Given the description of an element on the screen output the (x, y) to click on. 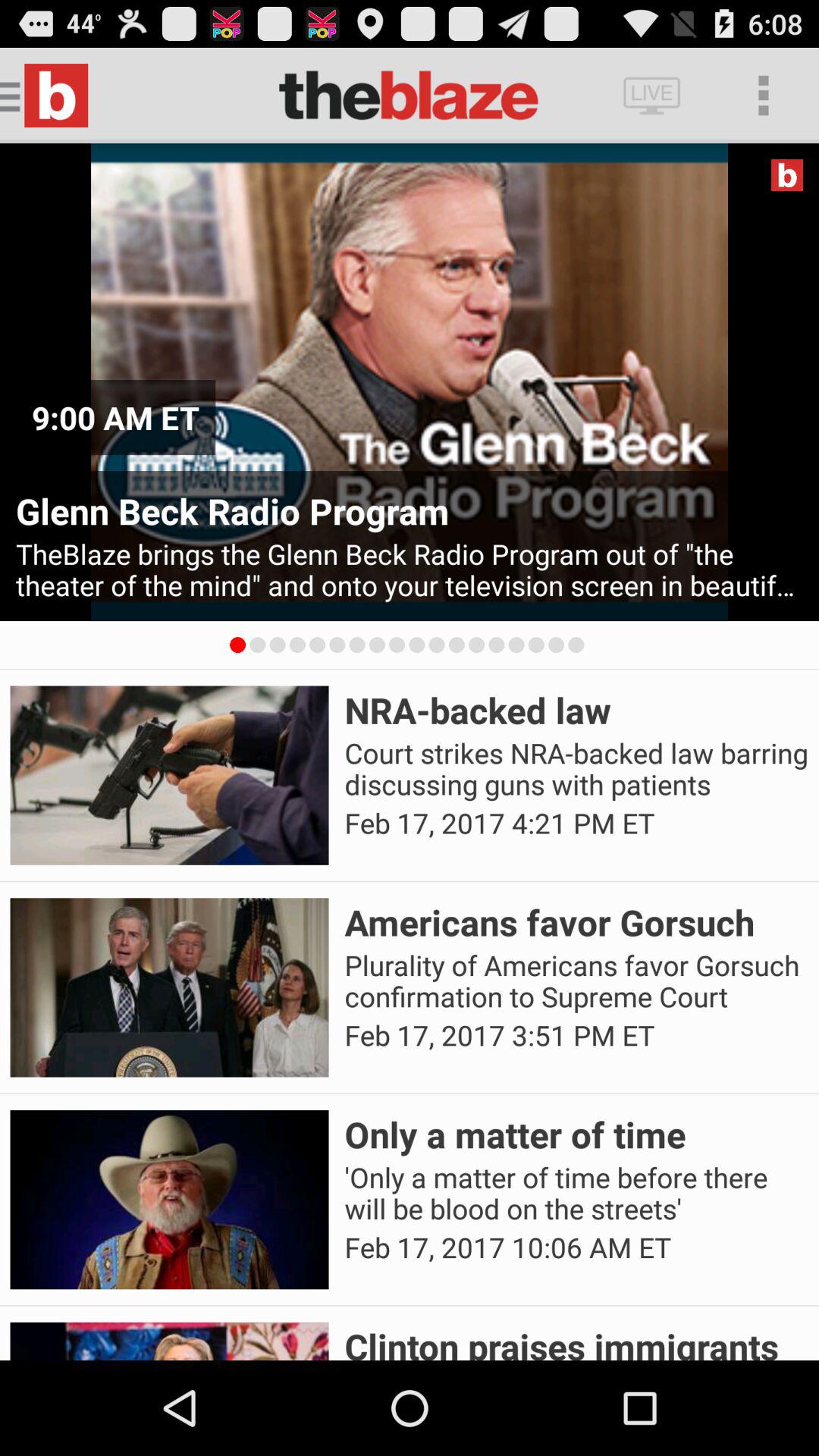
jump to the theblaze brings the item (409, 570)
